Given the description of an element on the screen output the (x, y) to click on. 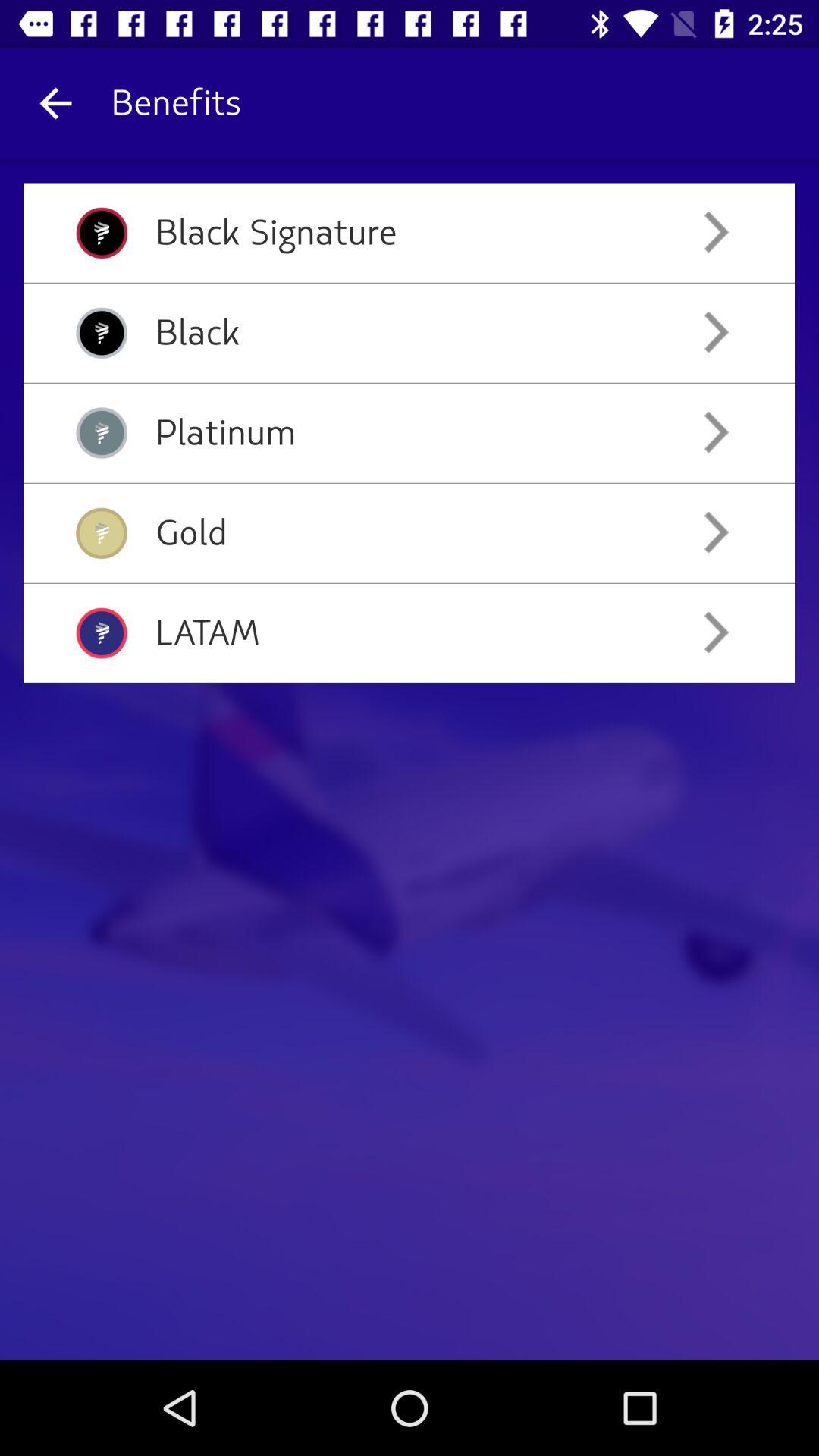
turn off the icon next to benefits item (55, 103)
